Given the description of an element on the screen output the (x, y) to click on. 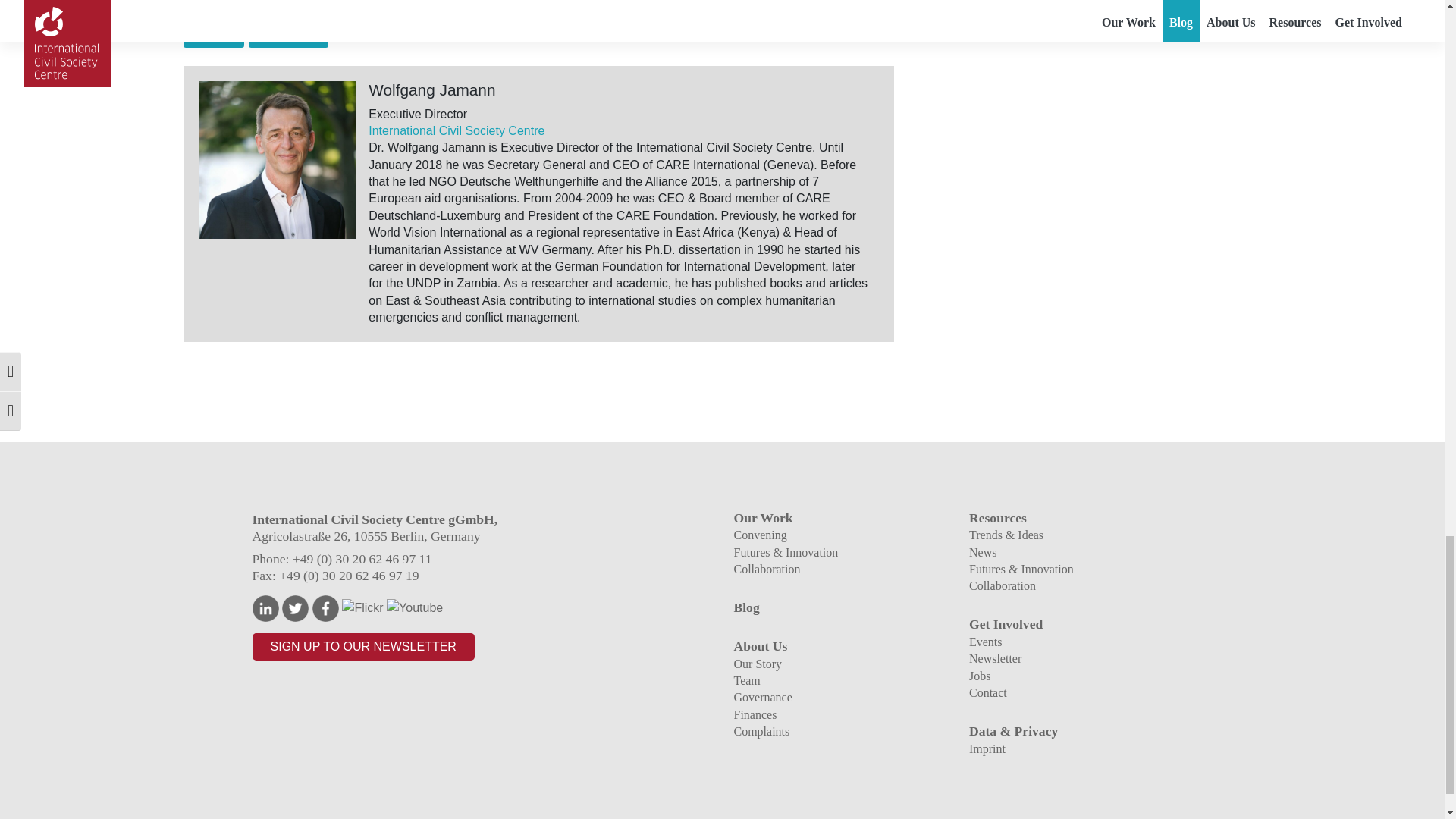
Disinformation (288, 36)
International Civil Society Centre (456, 130)
COVID-19 (213, 36)
